Given the description of an element on the screen output the (x, y) to click on. 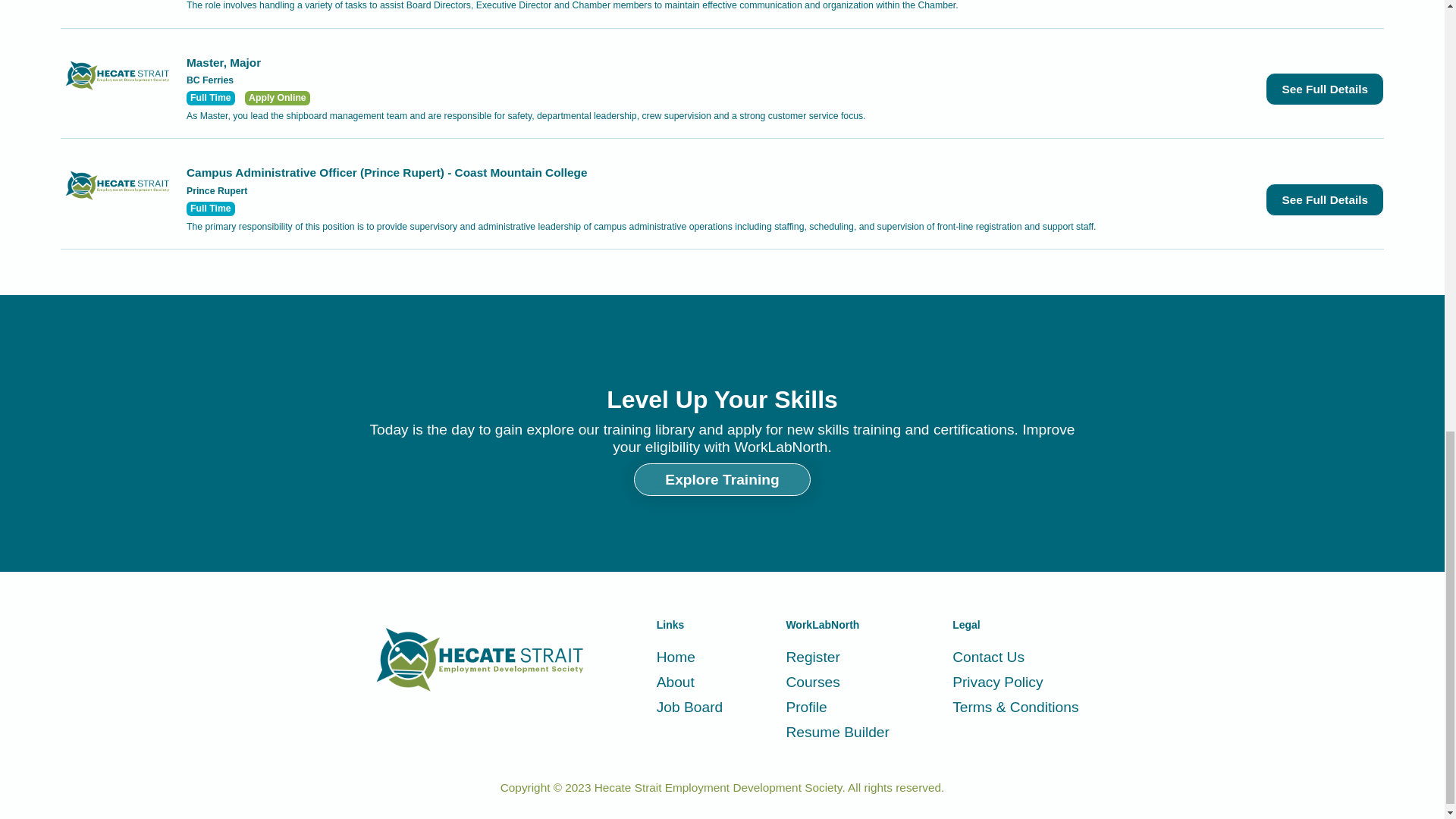
See Full Details (1324, 88)
Home (689, 656)
About (689, 682)
See Full Details (1324, 199)
Explore Training (721, 479)
